Given the description of an element on the screen output the (x, y) to click on. 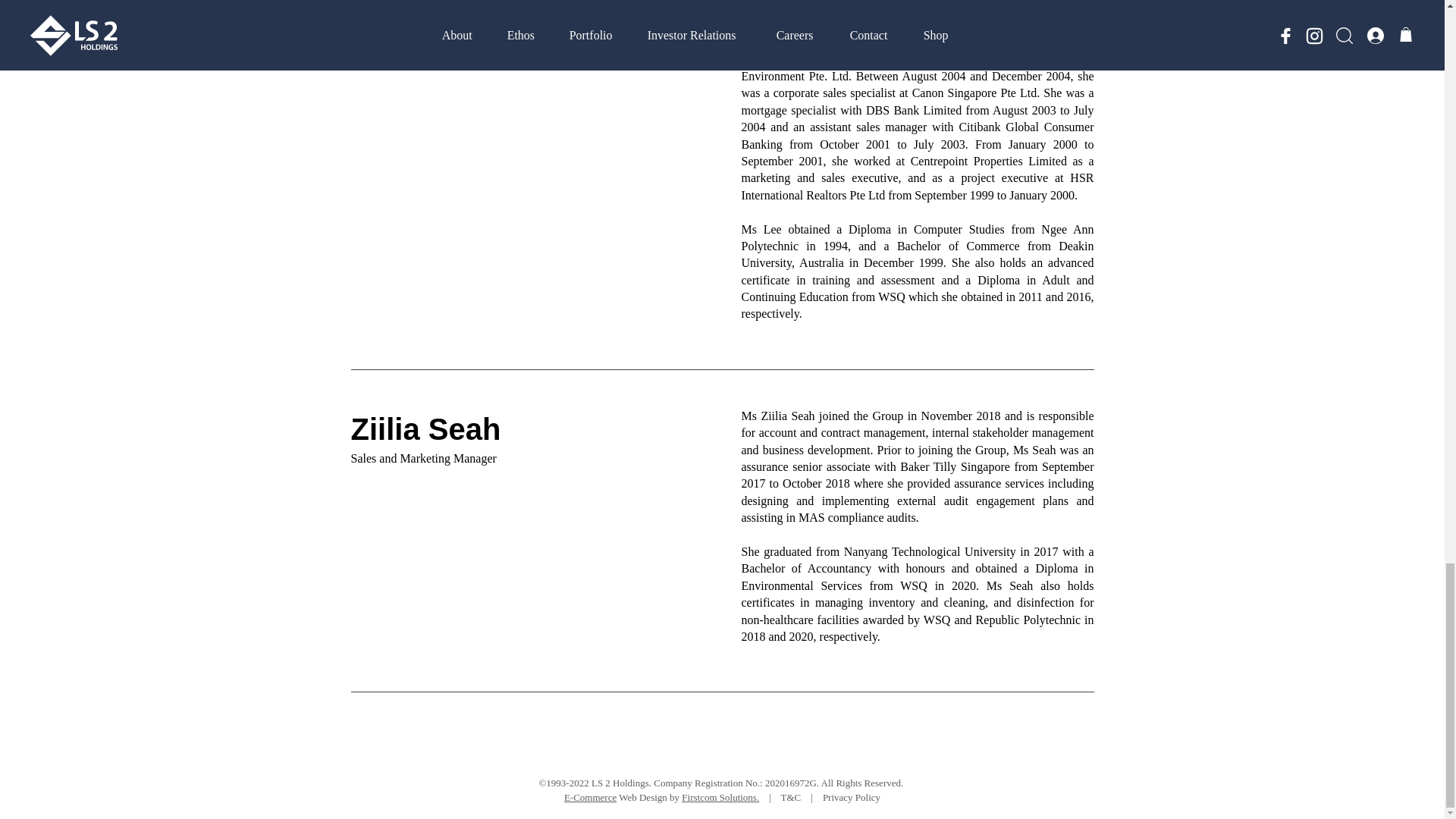
Firstcom Solutions. (719, 797)
E-Commerce (589, 797)
Privacy Policy (851, 797)
